Given the description of an element on the screen output the (x, y) to click on. 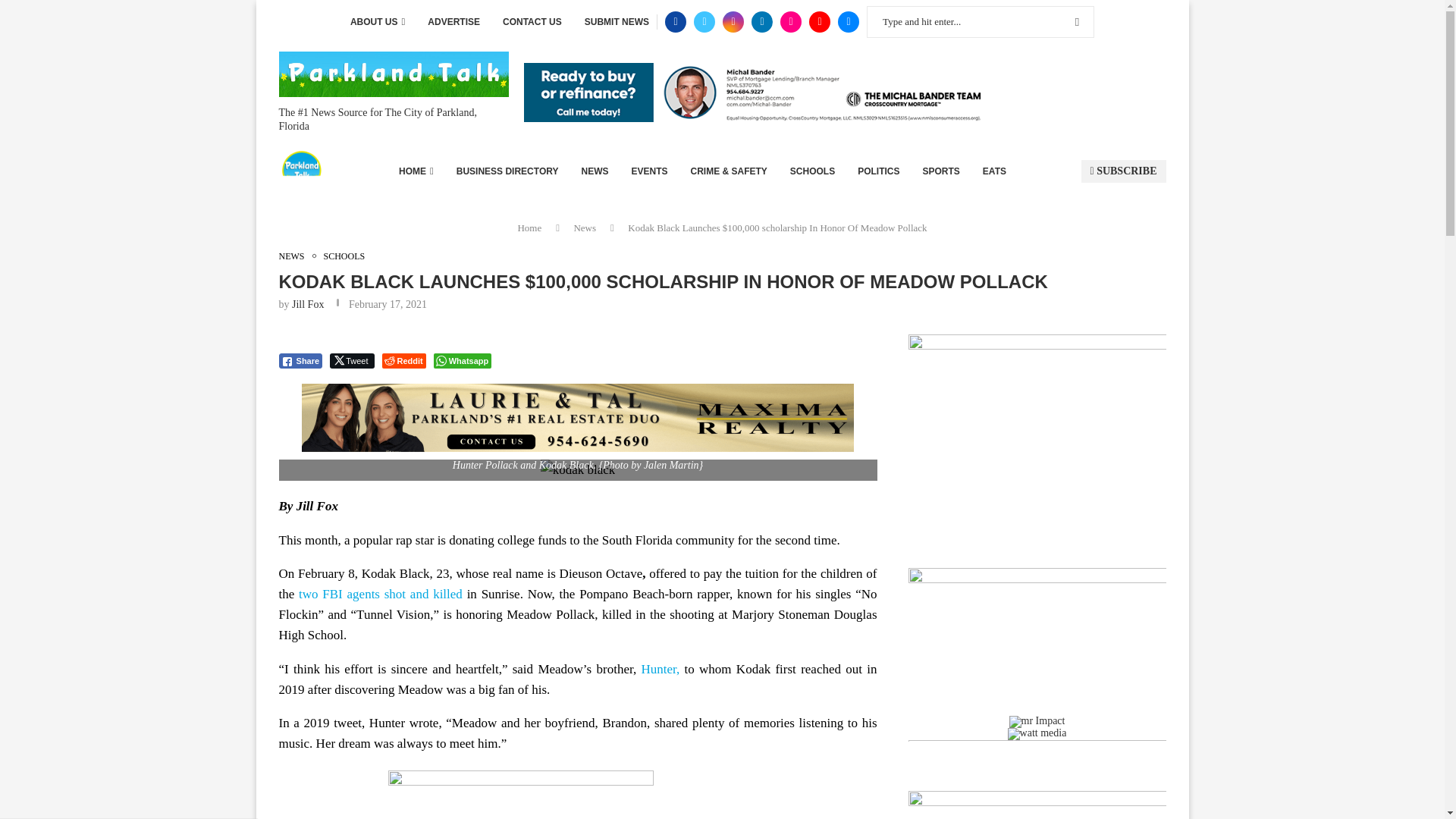
SUBMIT NEWS (617, 22)
ADVERTISE (454, 22)
ABOUT US (377, 22)
BUSINESS DIRECTORY (508, 171)
CONTACT US (532, 22)
HOME (415, 171)
